Given the description of an element on the screen output the (x, y) to click on. 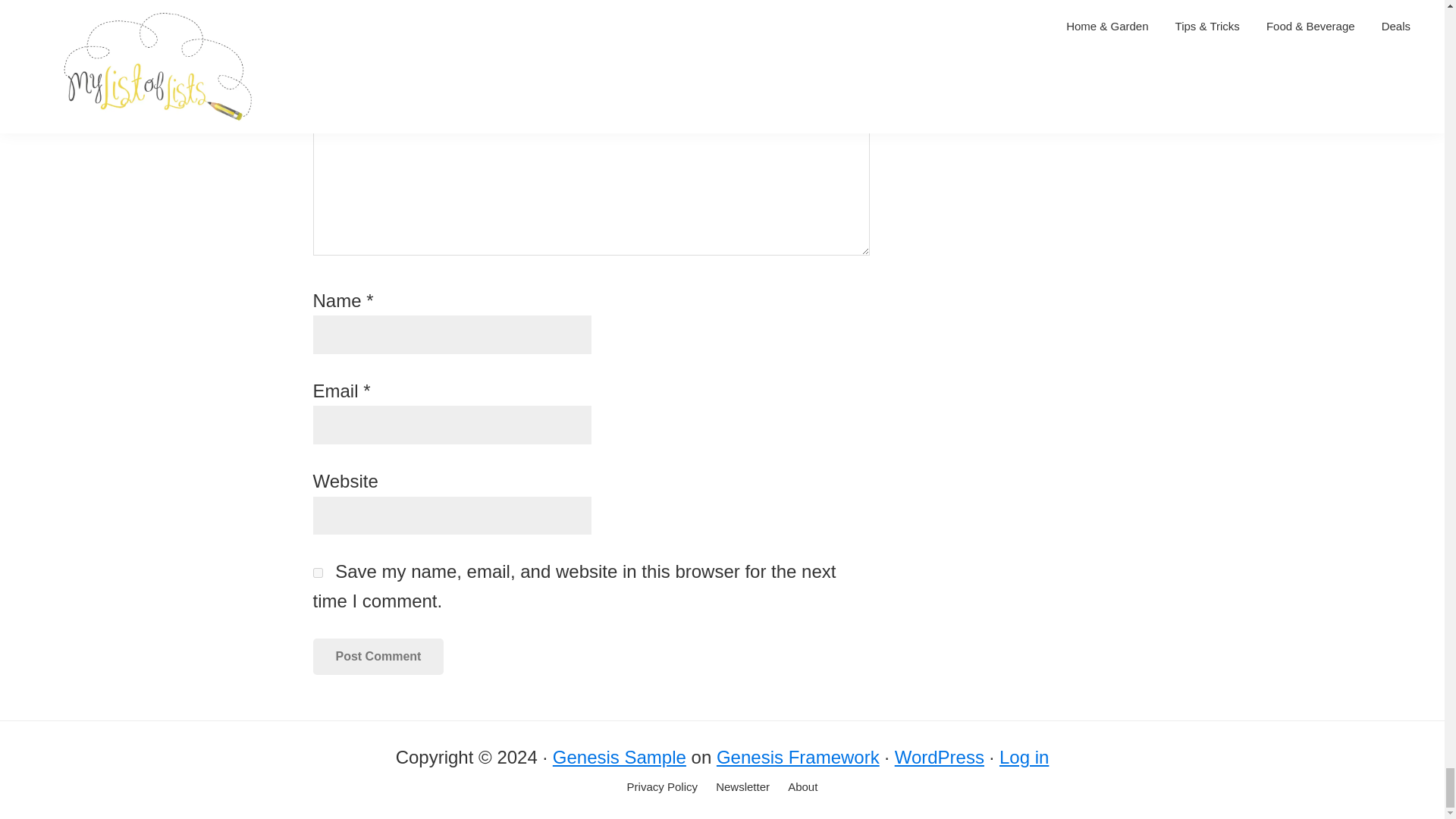
Post Comment (378, 656)
yes (317, 573)
